Given the description of an element on the screen output the (x, y) to click on. 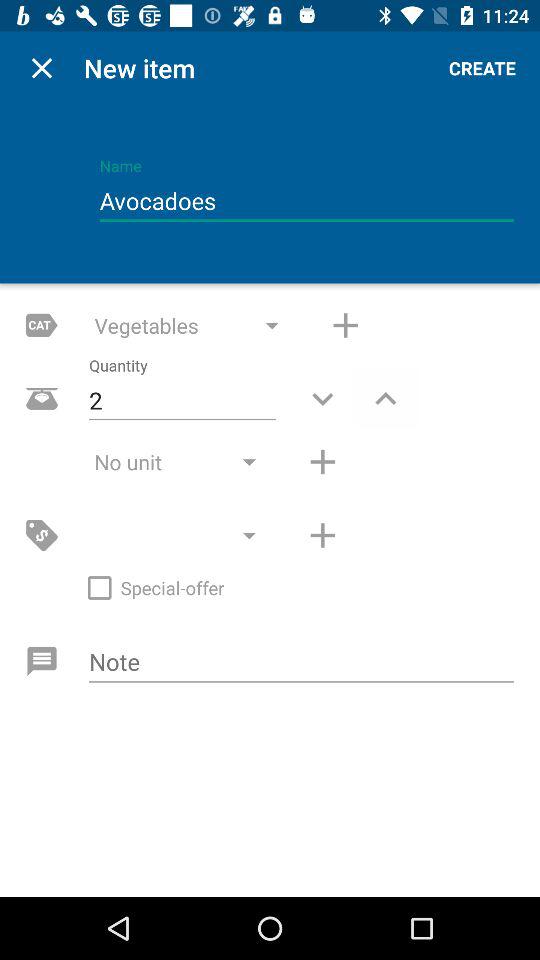
more (322, 535)
